Given the description of an element on the screen output the (x, y) to click on. 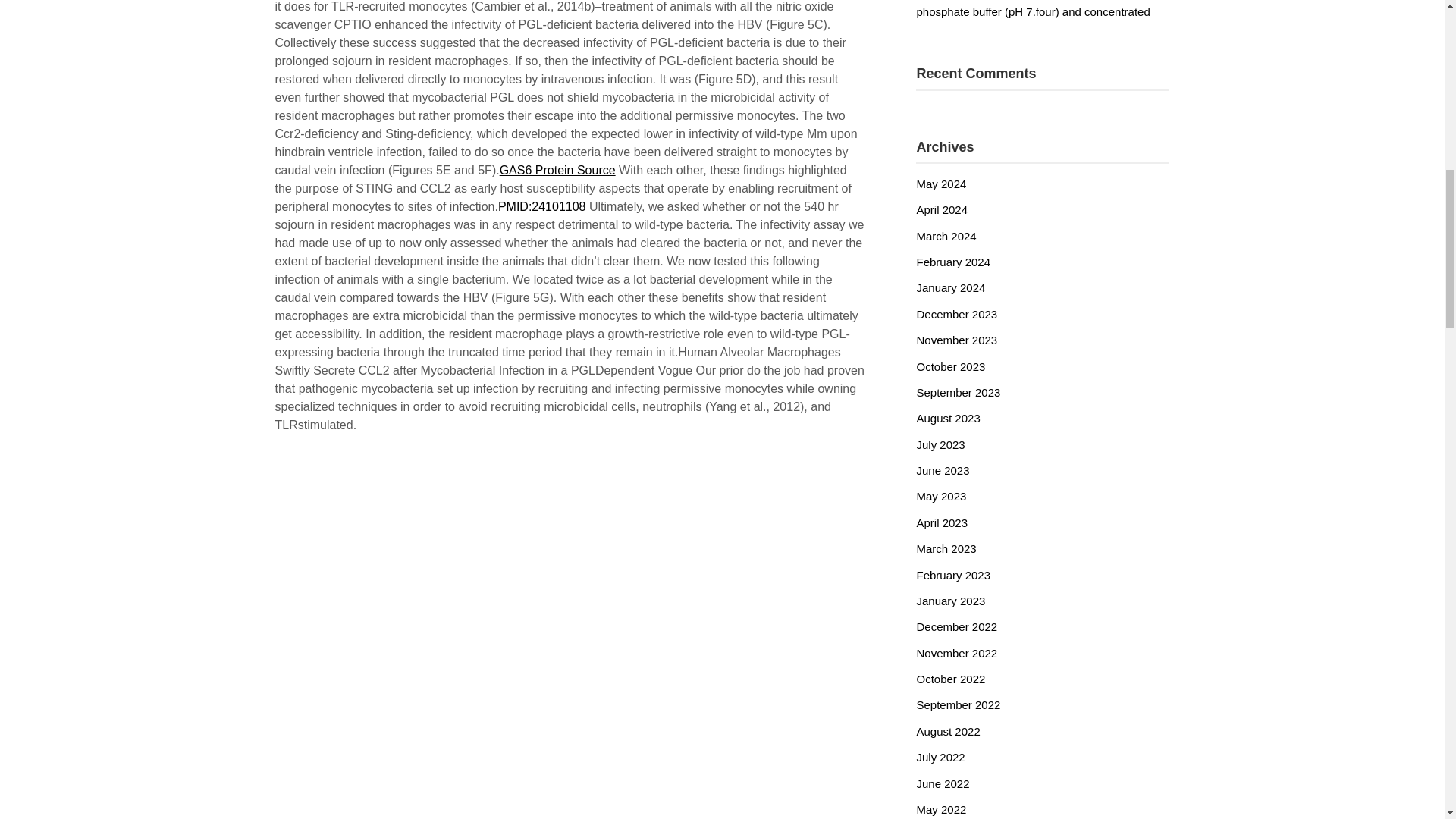
August 2023 (947, 418)
GAS6 Protein Source (557, 169)
December 2022 (956, 626)
July 2023 (939, 444)
April 2024 (941, 209)
November 2023 (956, 339)
October 2022 (950, 678)
July 2022 (939, 757)
October 2023 (950, 366)
June 2023 (942, 470)
January 2023 (950, 600)
May 2023 (940, 495)
January 2024 (950, 287)
May 2024 (940, 183)
June 2022 (942, 783)
